Given the description of an element on the screen output the (x, y) to click on. 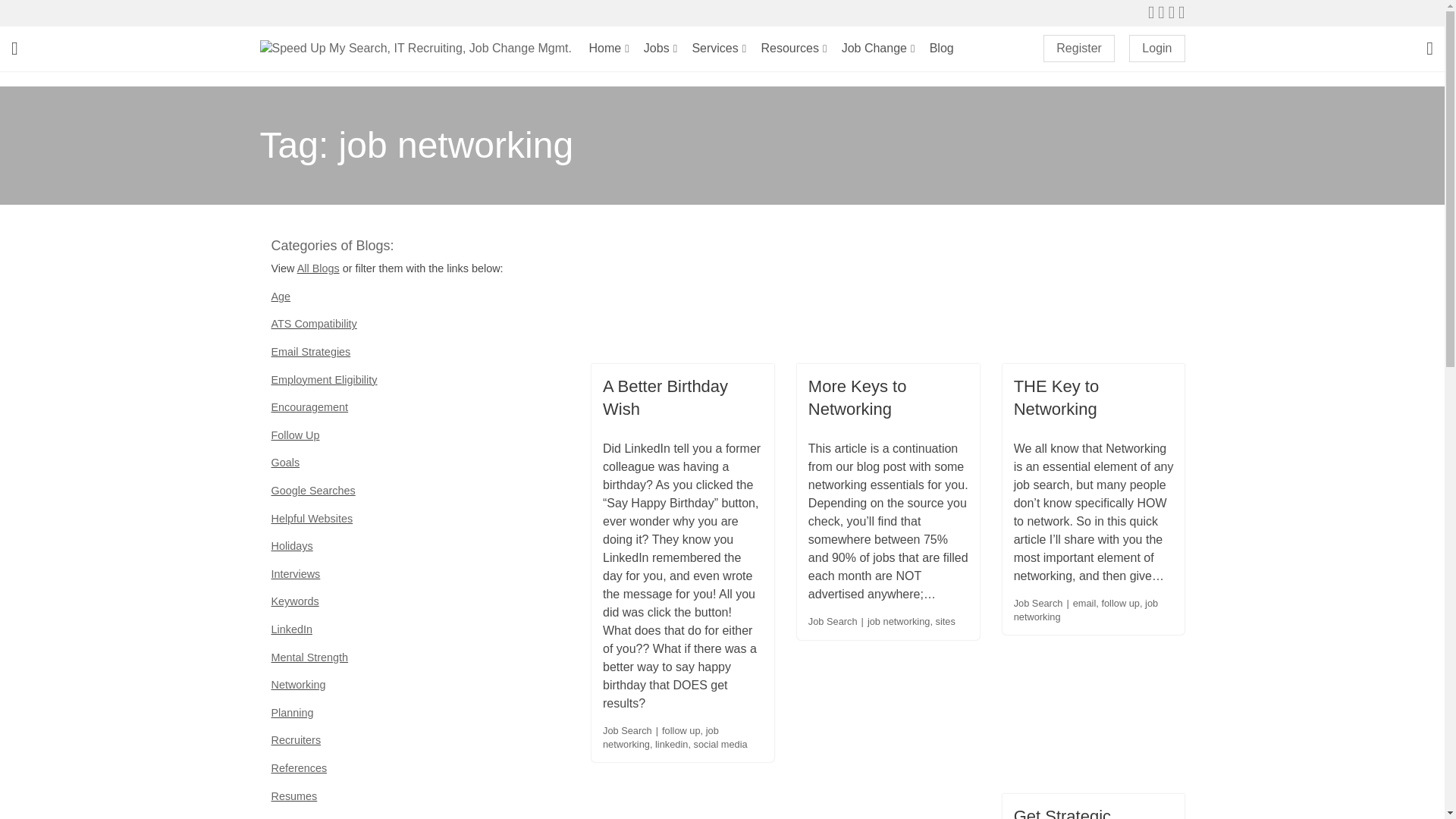
Home (608, 48)
Job Change (877, 48)
Jobs (659, 48)
Services (718, 48)
Login (1157, 48)
Resources (793, 48)
